Given the description of an element on the screen output the (x, y) to click on. 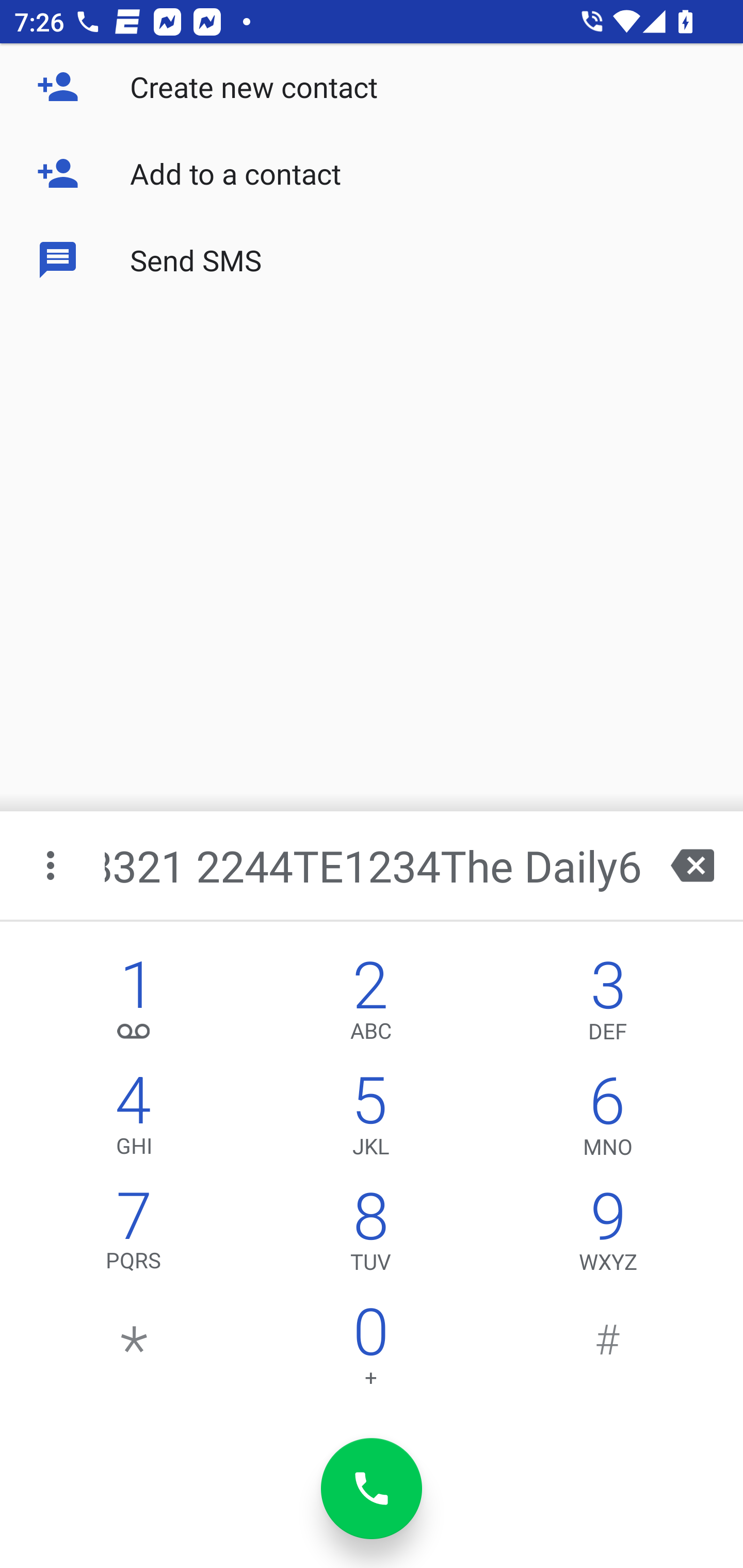
Create new contact (371, 86)
Add to a contact (371, 173)
Send SMS (371, 259)
+65 8321 2244TE1234The Daily6 (372, 865)
backspace (692, 865)
More options (52, 865)
1, 1 (133, 1005)
2,ABC 2 ABC (370, 1005)
3,DEF 3 DEF (607, 1005)
4,GHI 4 GHI (133, 1120)
5,JKL 5 JKL (370, 1120)
6,MNO 6 MNO (607, 1120)
7,PQRS 7 PQRS (133, 1235)
8,TUV 8 TUV (370, 1235)
9,WXYZ 9 WXYZ (607, 1235)
* (133, 1351)
0 0 + (370, 1351)
# (607, 1351)
dial (371, 1488)
